Given the description of an element on the screen output the (x, y) to click on. 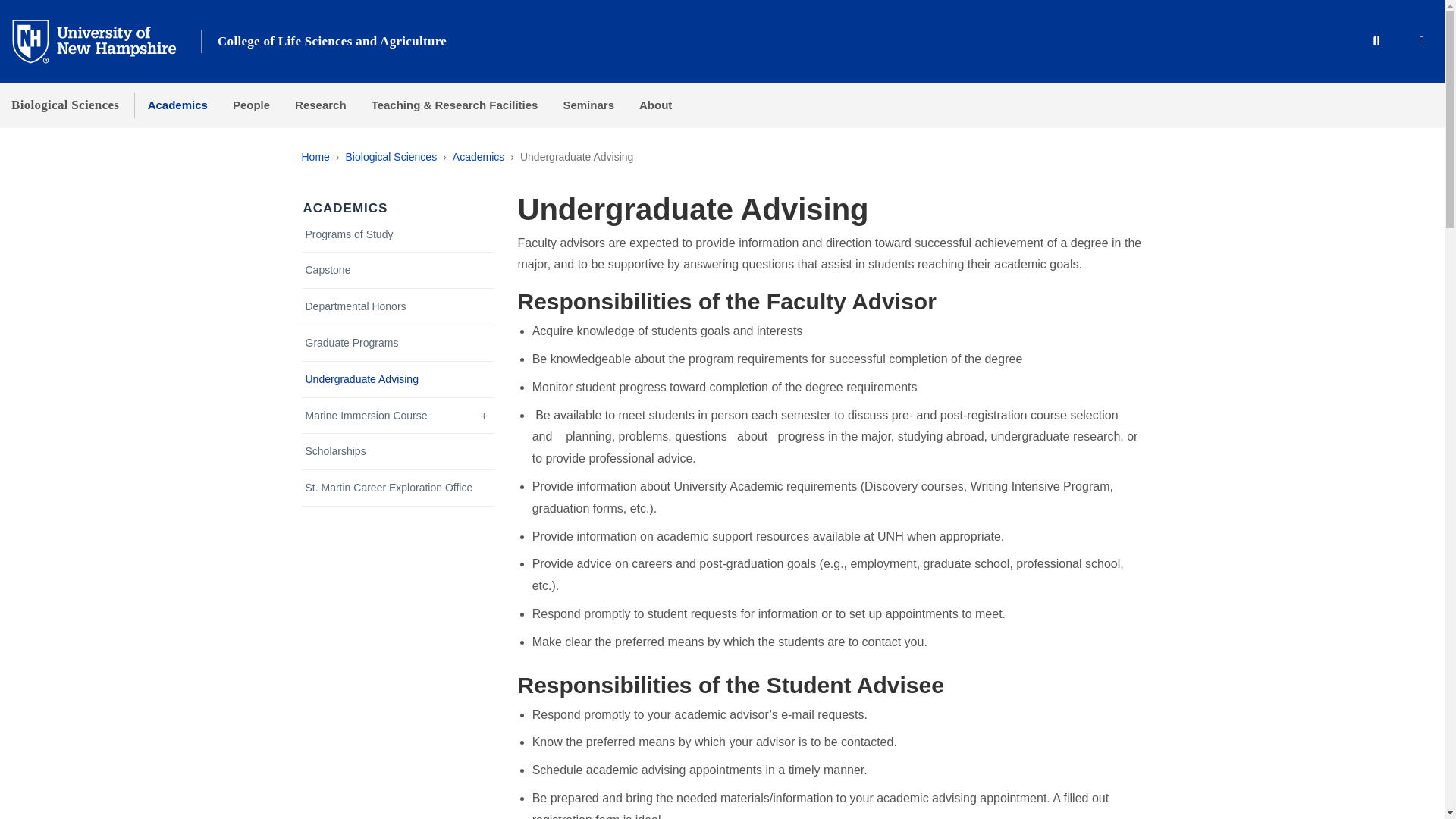
Biological Sciences: Academics (345, 207)
People (250, 104)
About the Department of Biological Sciences (655, 104)
Capstone (399, 269)
Biological Sciences (65, 104)
Research (320, 104)
About (655, 104)
College of Life Sciences and Agriculture (331, 41)
Seminars (588, 104)
Academics (477, 156)
Biological Sciences: Academics (177, 104)
Programs of Study (399, 234)
Home (315, 156)
Departmental Honors (399, 306)
